Given the description of an element on the screen output the (x, y) to click on. 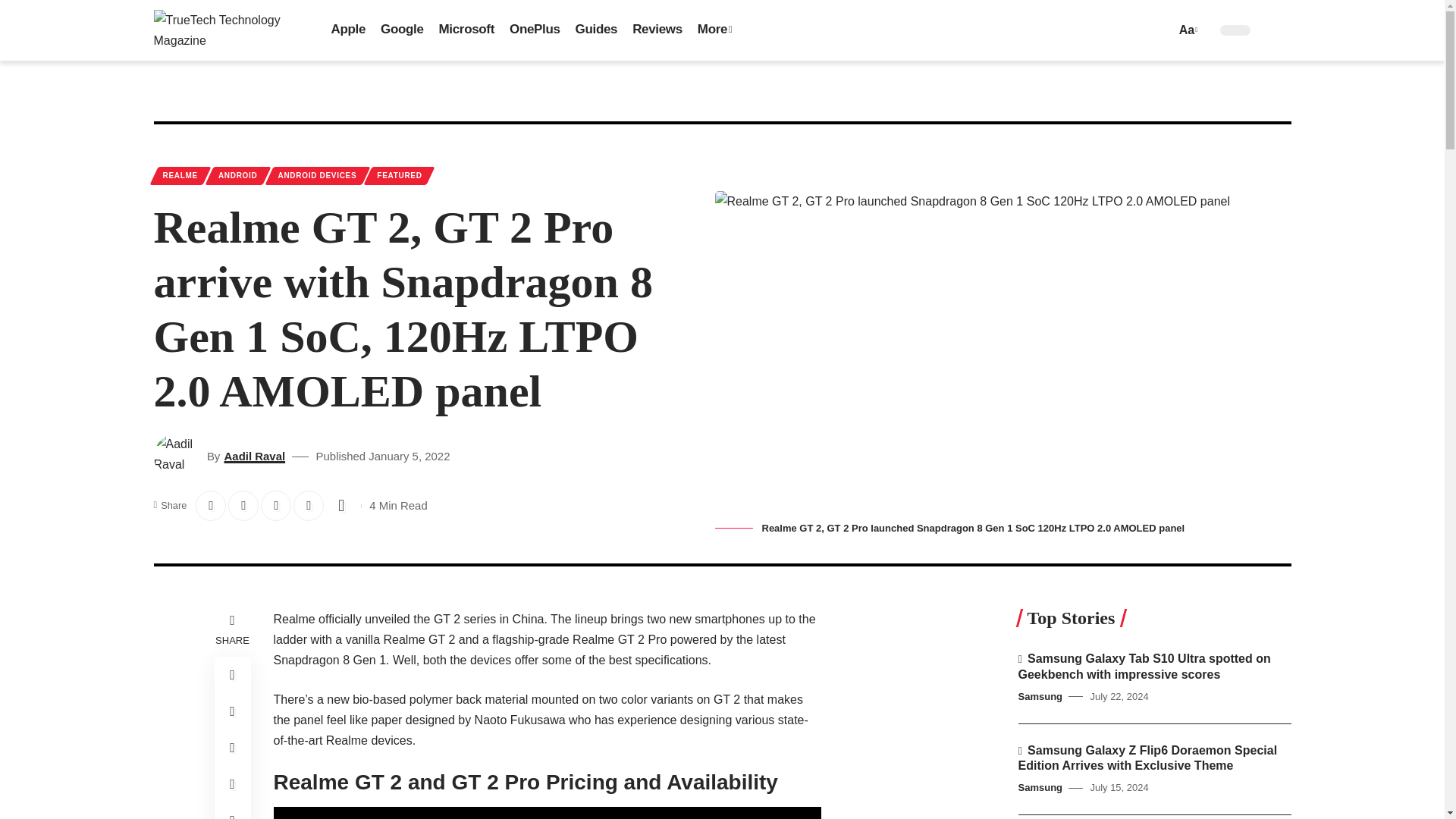
Guides (596, 30)
Apple (347, 30)
Aa (1186, 29)
OnePlus (534, 30)
Google (401, 30)
More (714, 30)
Reviews (657, 30)
Microsoft (466, 30)
